Given the description of an element on the screen output the (x, y) to click on. 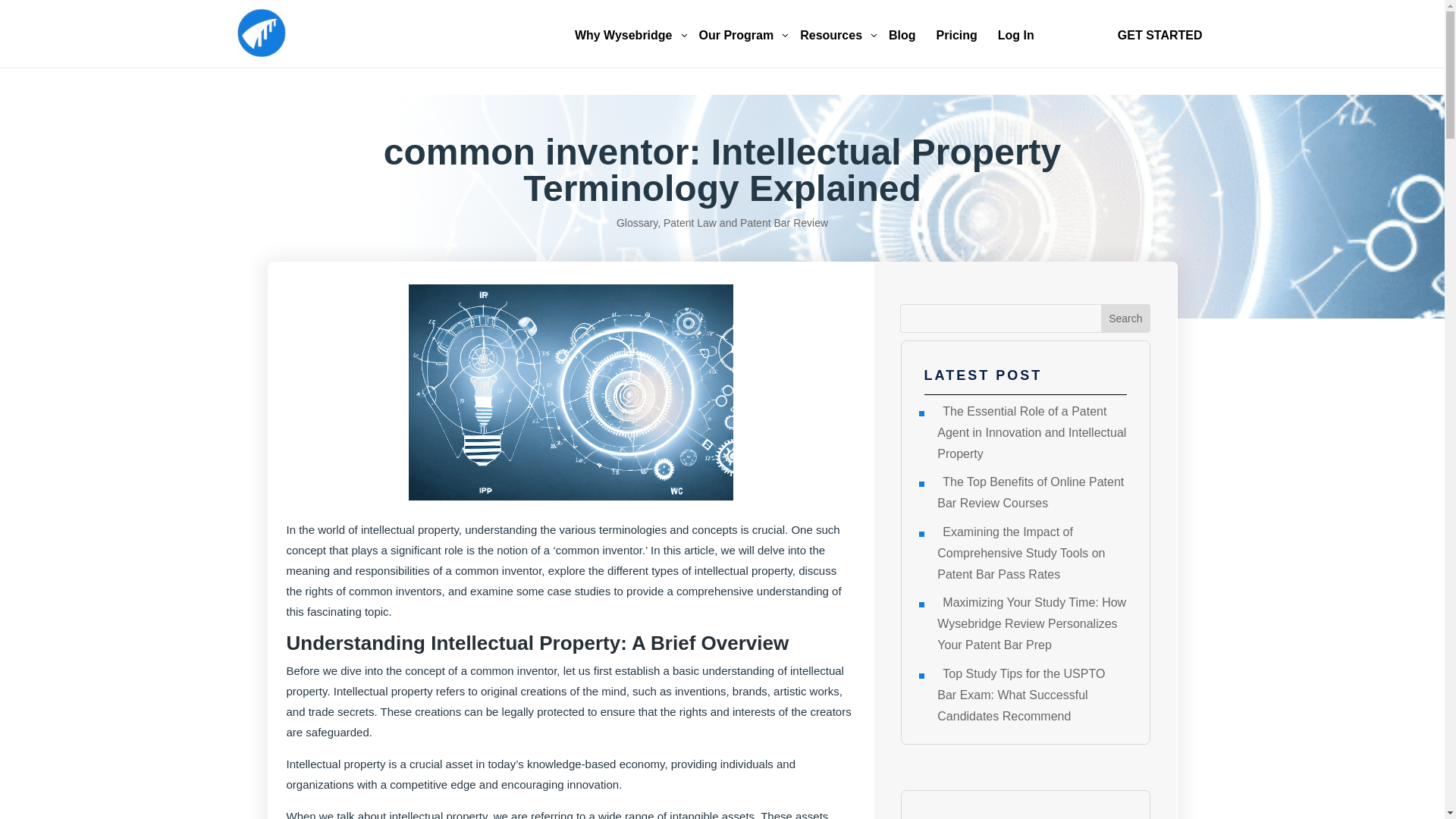
Search (836, 35)
Wysebridge New Blue 80 (629, 35)
Search (1125, 318)
